Given the description of an element on the screen output the (x, y) to click on. 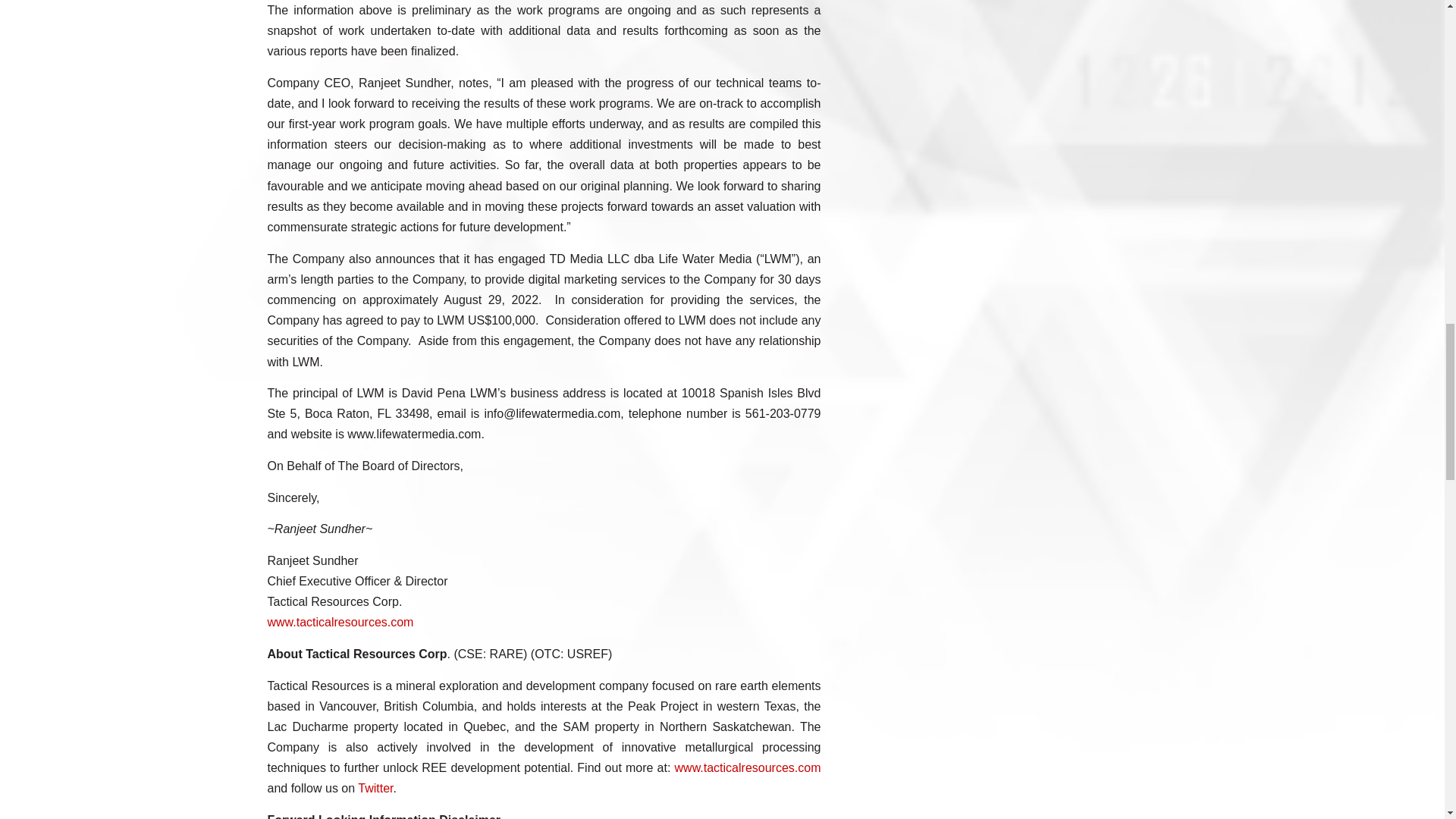
www.tacticalresources.com (339, 621)
www.tacticalresources.com (748, 767)
Twitter (375, 788)
